Given the description of an element on the screen output the (x, y) to click on. 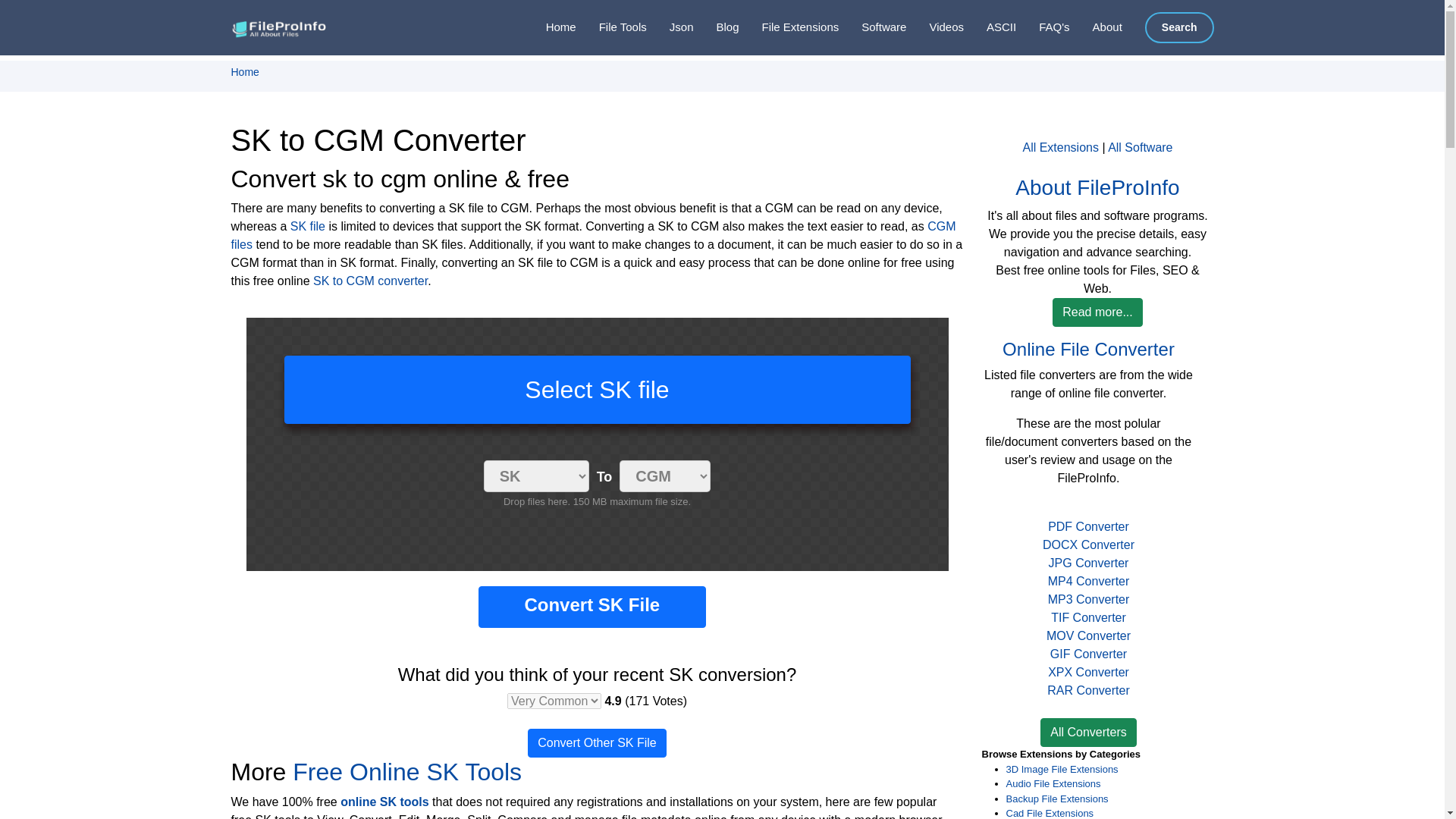
online SK tools (384, 801)
Home (244, 71)
Free online Json tools (670, 27)
File Tools (611, 27)
FAQ's (1042, 27)
Home FileProInfo.com (549, 27)
Free Online SK Tools (406, 771)
Convert Other SK File (596, 742)
Software program list (871, 27)
SK file (306, 226)
